Given the description of an element on the screen output the (x, y) to click on. 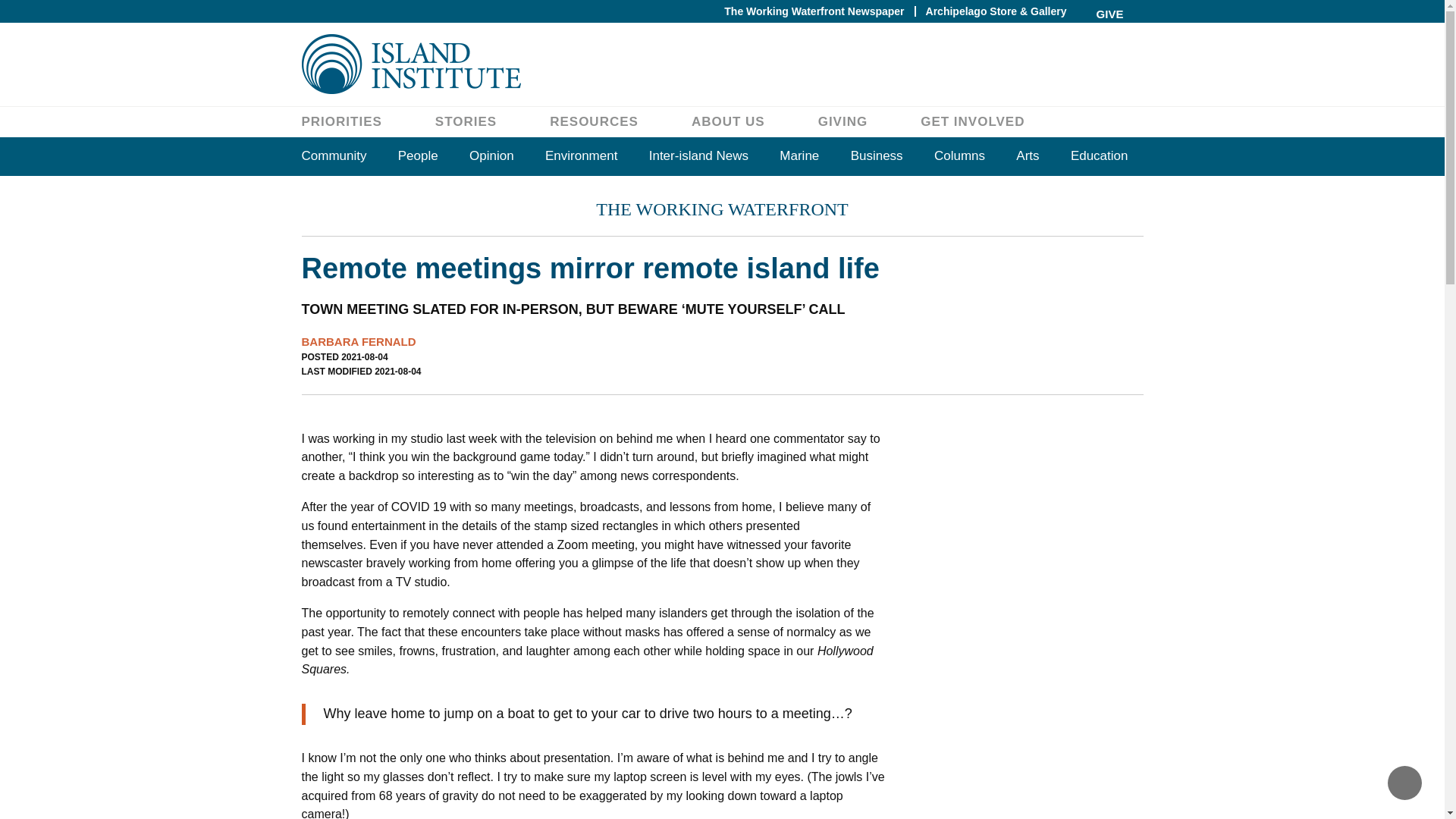
PRIORITIES (341, 121)
Give Today! (1109, 26)
Island Institute (721, 64)
GIVE TODAY! (1109, 26)
The Working Waterfront Newspaper (813, 10)
STORIES (465, 121)
Priorities (341, 121)
The Working Waterfront Newspaper (813, 10)
